Given the description of an element on the screen output the (x, y) to click on. 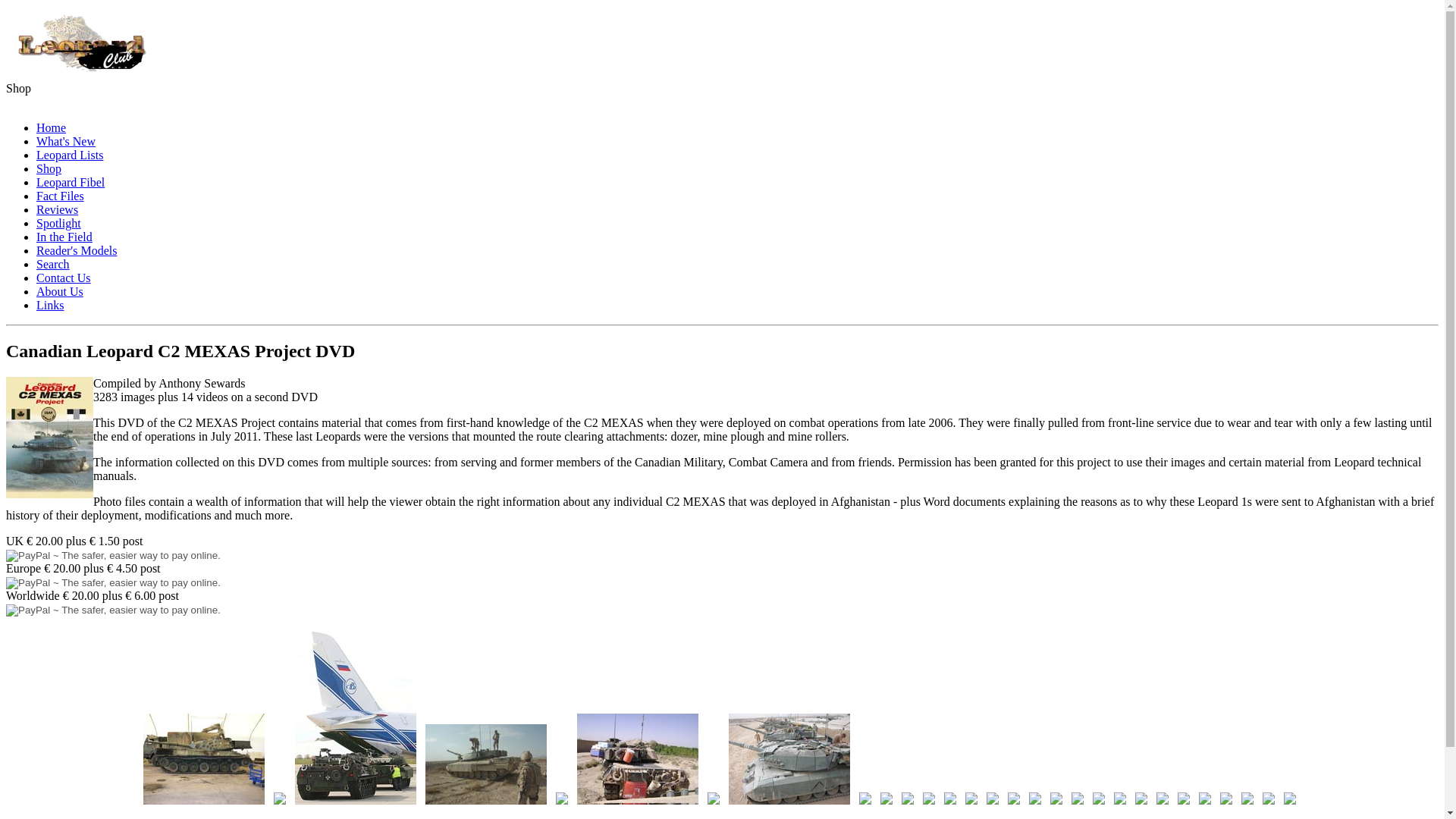
About Us (59, 291)
Search (52, 264)
In the Field (64, 236)
Home (50, 127)
Shop (48, 168)
Leopard Fibel (70, 182)
Spotlight (58, 223)
Links (50, 305)
Reader's Models (76, 250)
Leopard Lists (69, 154)
